Given the description of an element on the screen output the (x, y) to click on. 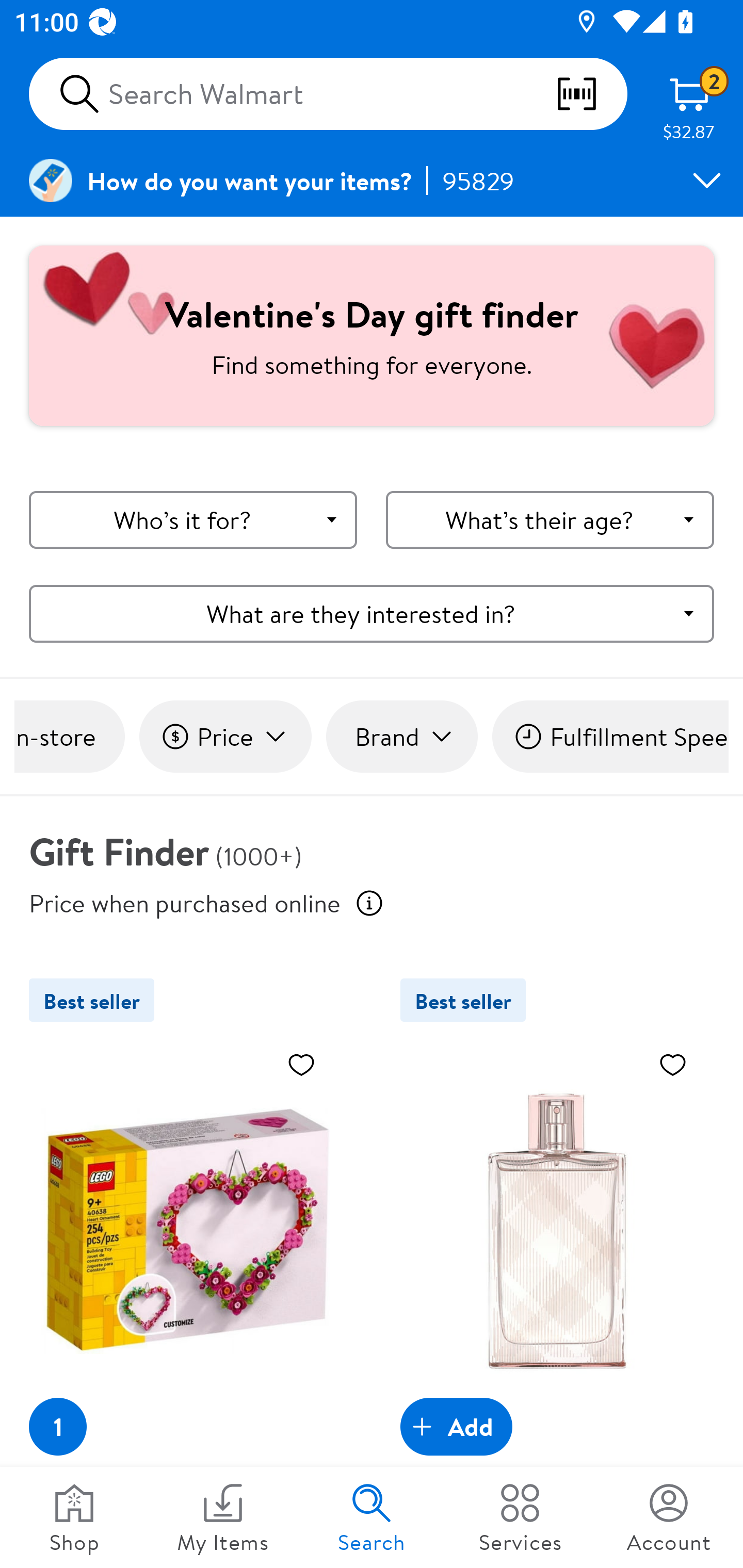
Search Walmart scan barcodes qr codes and more (327, 94)
scan barcodes qr codes and more (591, 94)
Who’s it for? (192, 520)
What’s their age? (549, 520)
What are they interested in? (371, 613)
Filter by In-store, not applied,  In-store (69, 736)
Filter by Brand, not applied,  Brand Select icon (401, 736)
Price when purchased online (184, 902)
Price when purchased online (369, 903)
Shop (74, 1517)
My Items (222, 1517)
Services (519, 1517)
Account (668, 1517)
